Given the description of an element on the screen output the (x, y) to click on. 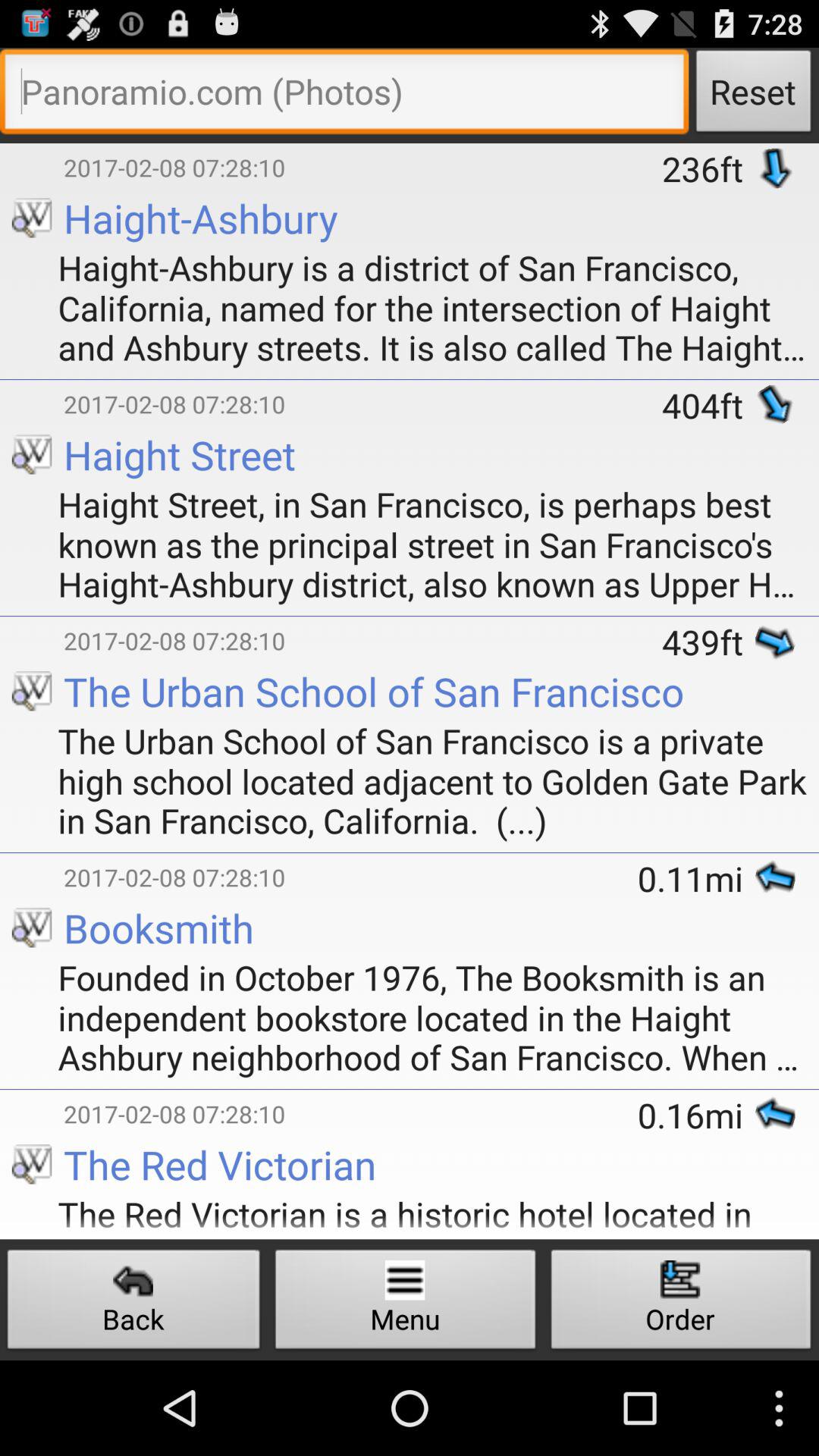
turn on 404ft item (708, 405)
